Given the description of an element on the screen output the (x, y) to click on. 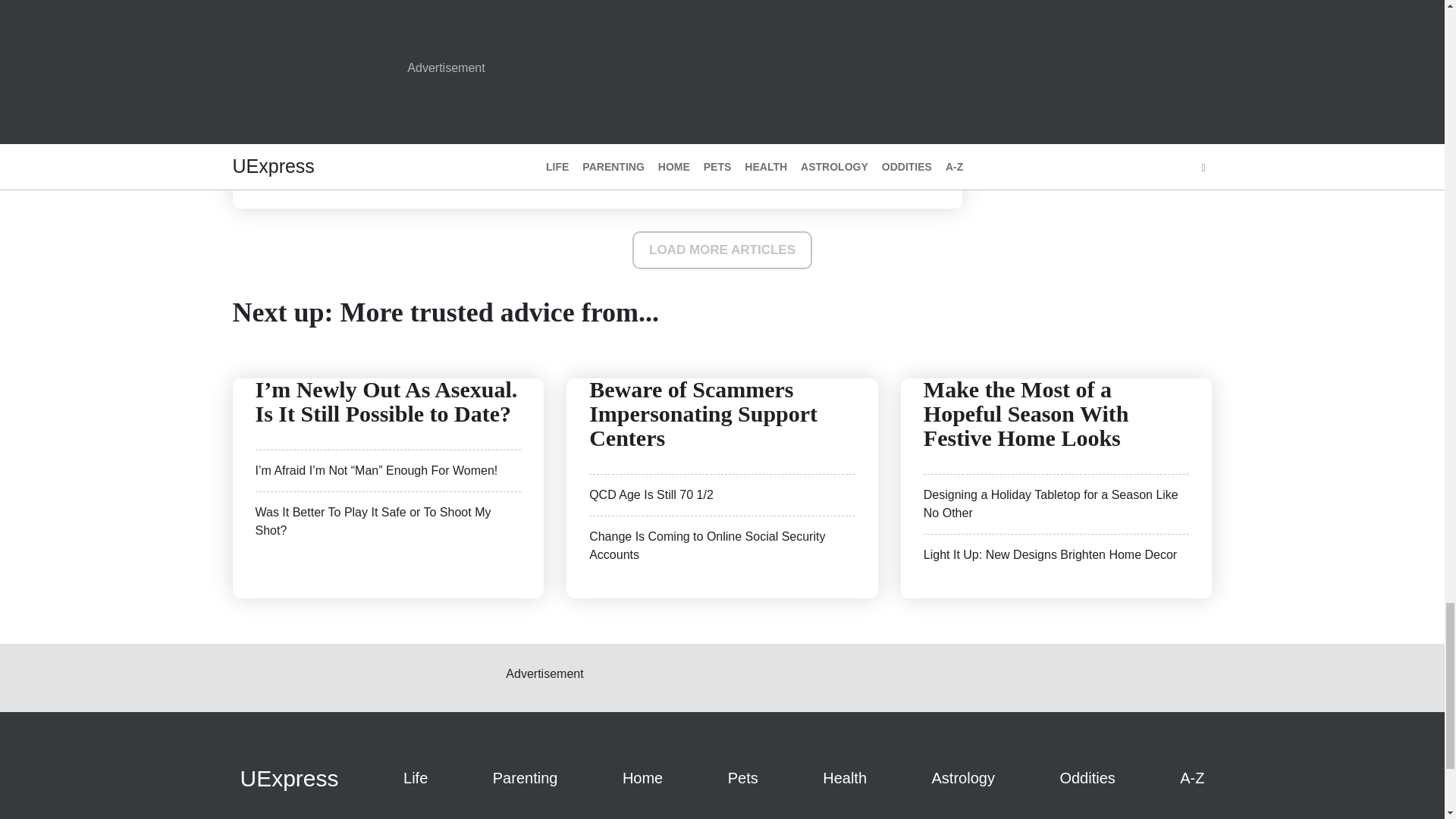
Was It Better To Play It Safe or To Shoot My Shot? (372, 521)
Beware of Scammers Impersonating Support Centers (702, 413)
READ MORE (597, 143)
LOAD MORE ARTICLES (721, 249)
